Given the description of an element on the screen output the (x, y) to click on. 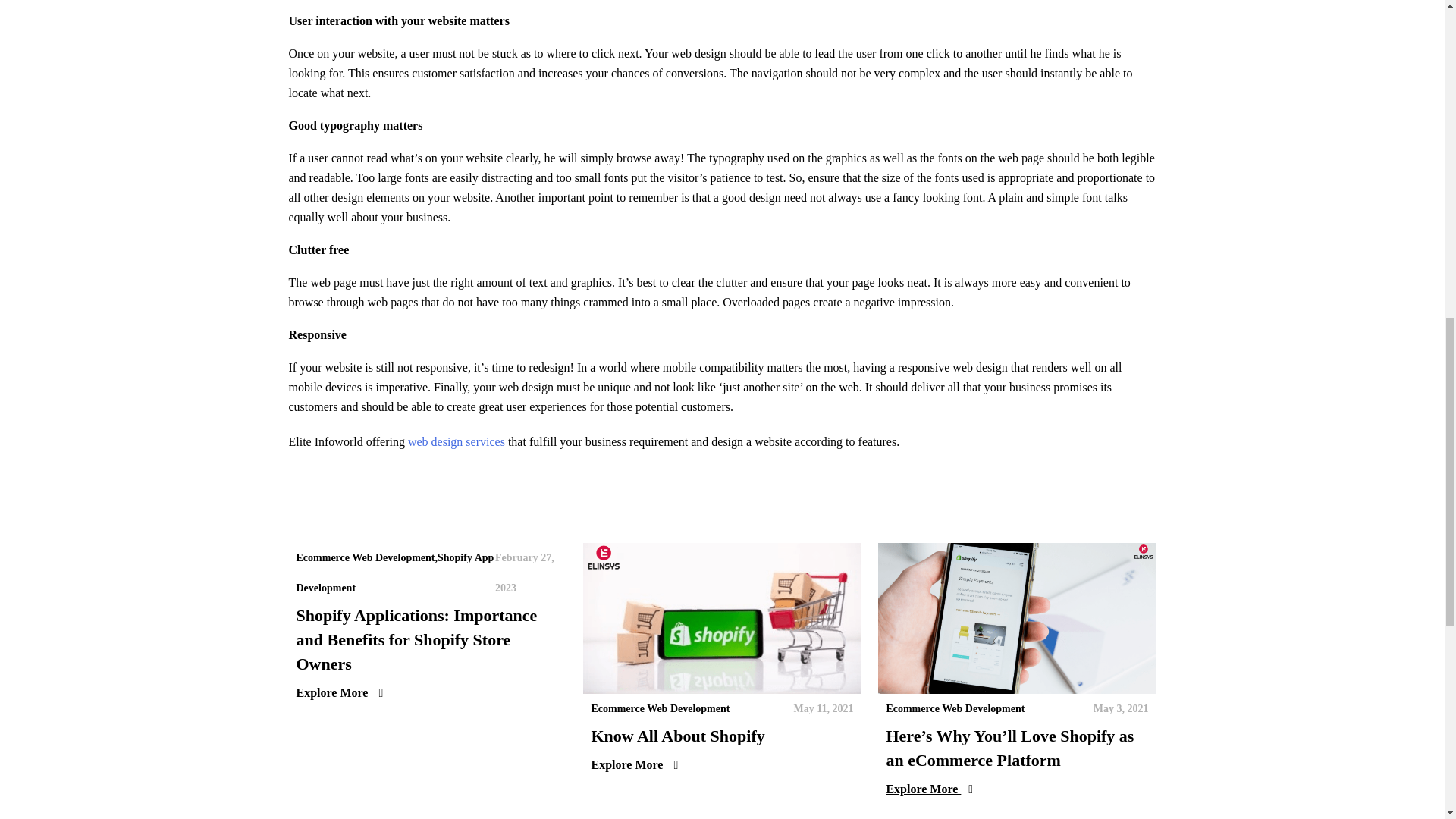
Explore More (426, 692)
Explore More (1016, 789)
Explore More (722, 764)
web design services (456, 440)
